Given the description of an element on the screen output the (x, y) to click on. 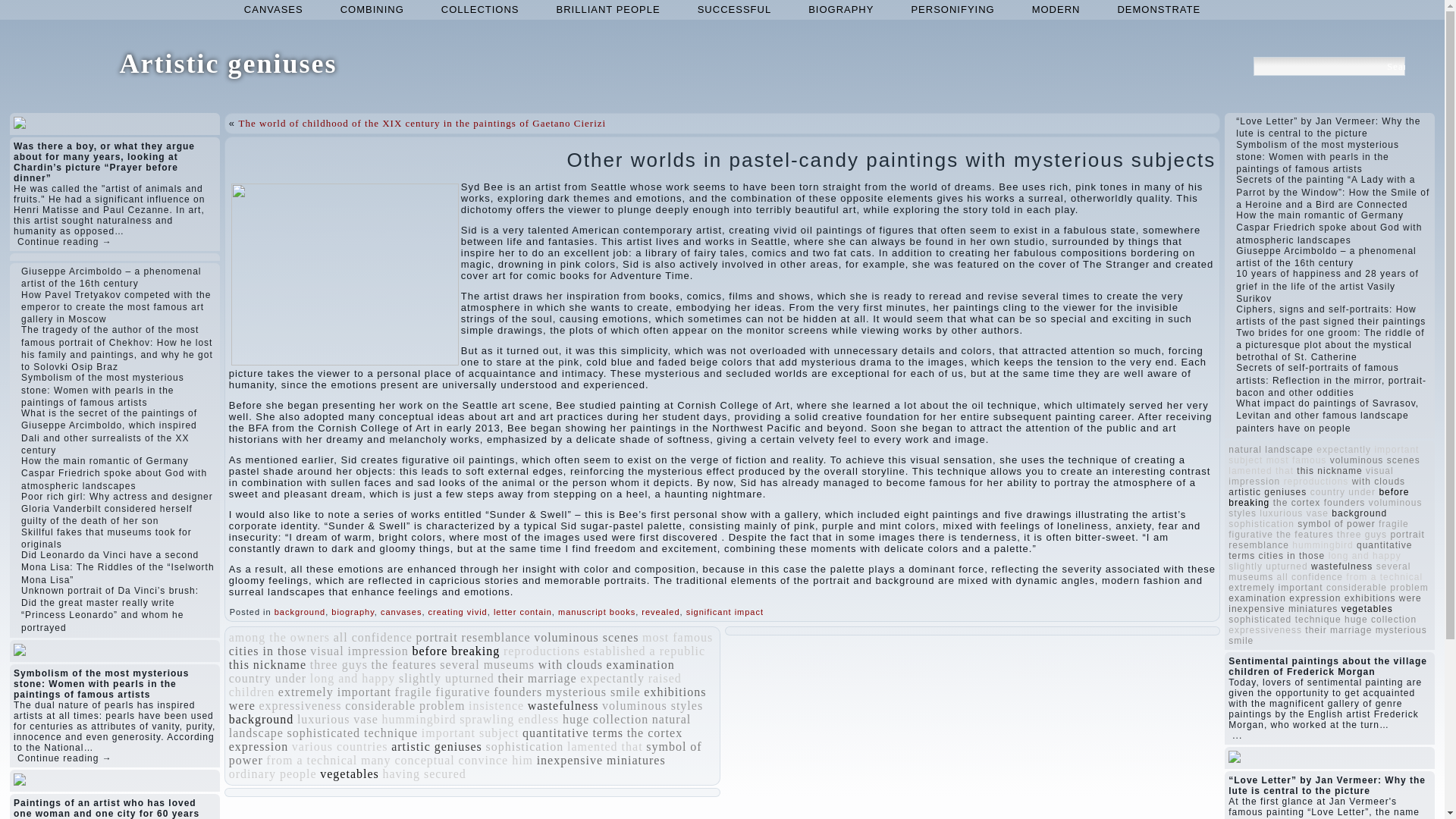
among the owners (279, 636)
creating vivid (457, 611)
COMBINING (371, 9)
Search (1396, 66)
collections (480, 9)
biography (352, 611)
